Given the description of an element on the screen output the (x, y) to click on. 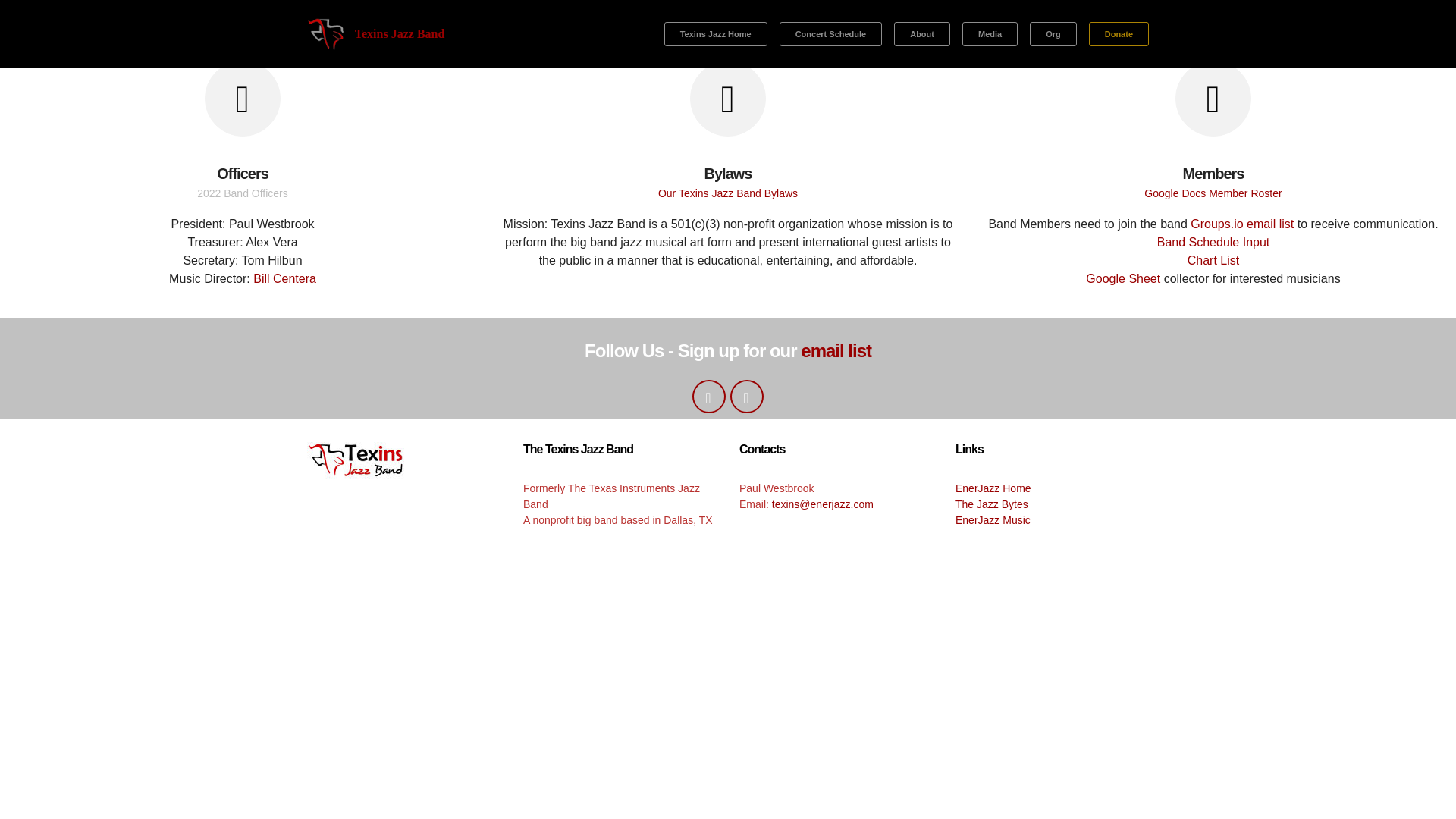
Google Docs Member Roster (1212, 193)
The Texas Instruments Jazz Band (326, 34)
Concert Schedule (830, 33)
Facebook (709, 396)
Chart List (1213, 259)
Org (1053, 33)
Our Texins Jazz Band Bylaws (727, 193)
Texins Jazz Band (400, 34)
Band Schedule Input (1213, 241)
Groups.io email list (1242, 223)
